Given the description of an element on the screen output the (x, y) to click on. 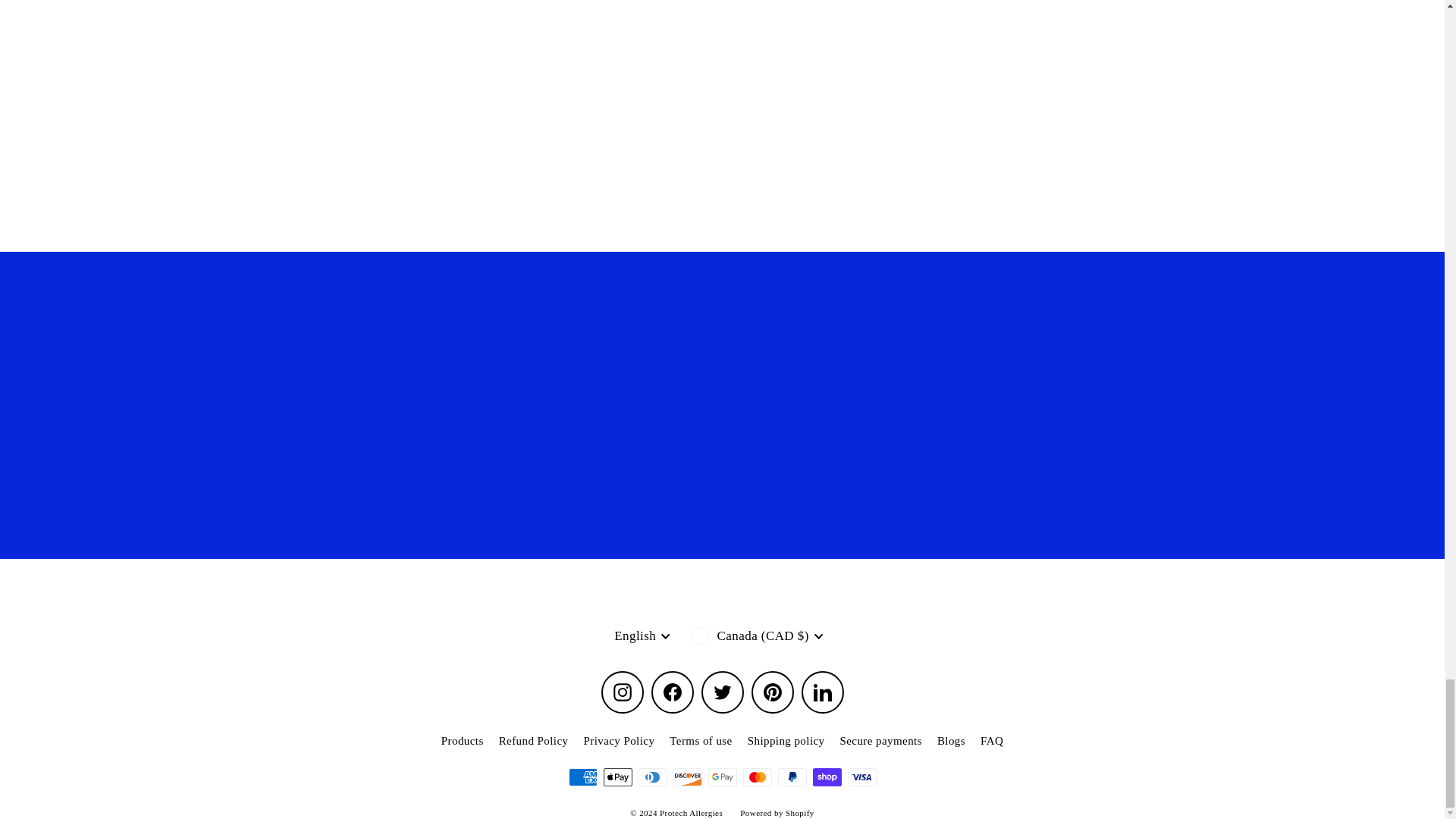
Apple Pay (617, 777)
Google Pay (721, 777)
American Express (582, 777)
Diners Club (652, 777)
Protech Allergies on LinkedIn (821, 691)
Mastercard (756, 777)
Protech Allergies on Facebook (671, 691)
Protech Allergies on Twitter (721, 691)
Protech Allergies on Pinterest (772, 691)
Discover (686, 777)
Protech Allergies on Instagram (621, 691)
